Given the description of an element on the screen output the (x, y) to click on. 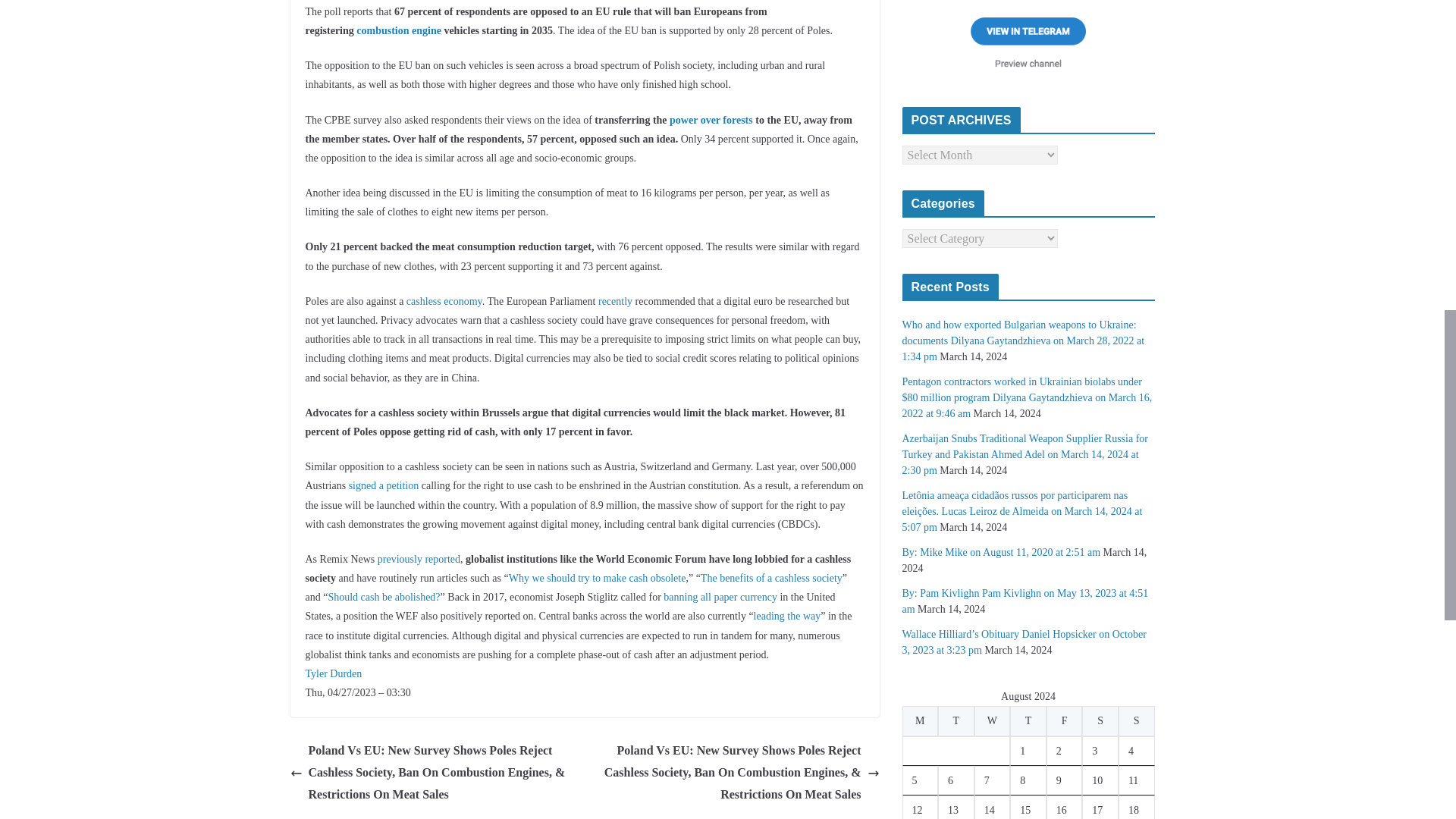
banning all paper currency (720, 596)
View user profile. (332, 673)
Should cash be abolished? (383, 596)
recently (614, 301)
combustion engine (398, 30)
previously reported (418, 559)
leading the way (787, 615)
signed a petition (384, 485)
The benefits of a cashless society (771, 577)
power over forests (710, 120)
